Given the description of an element on the screen output the (x, y) to click on. 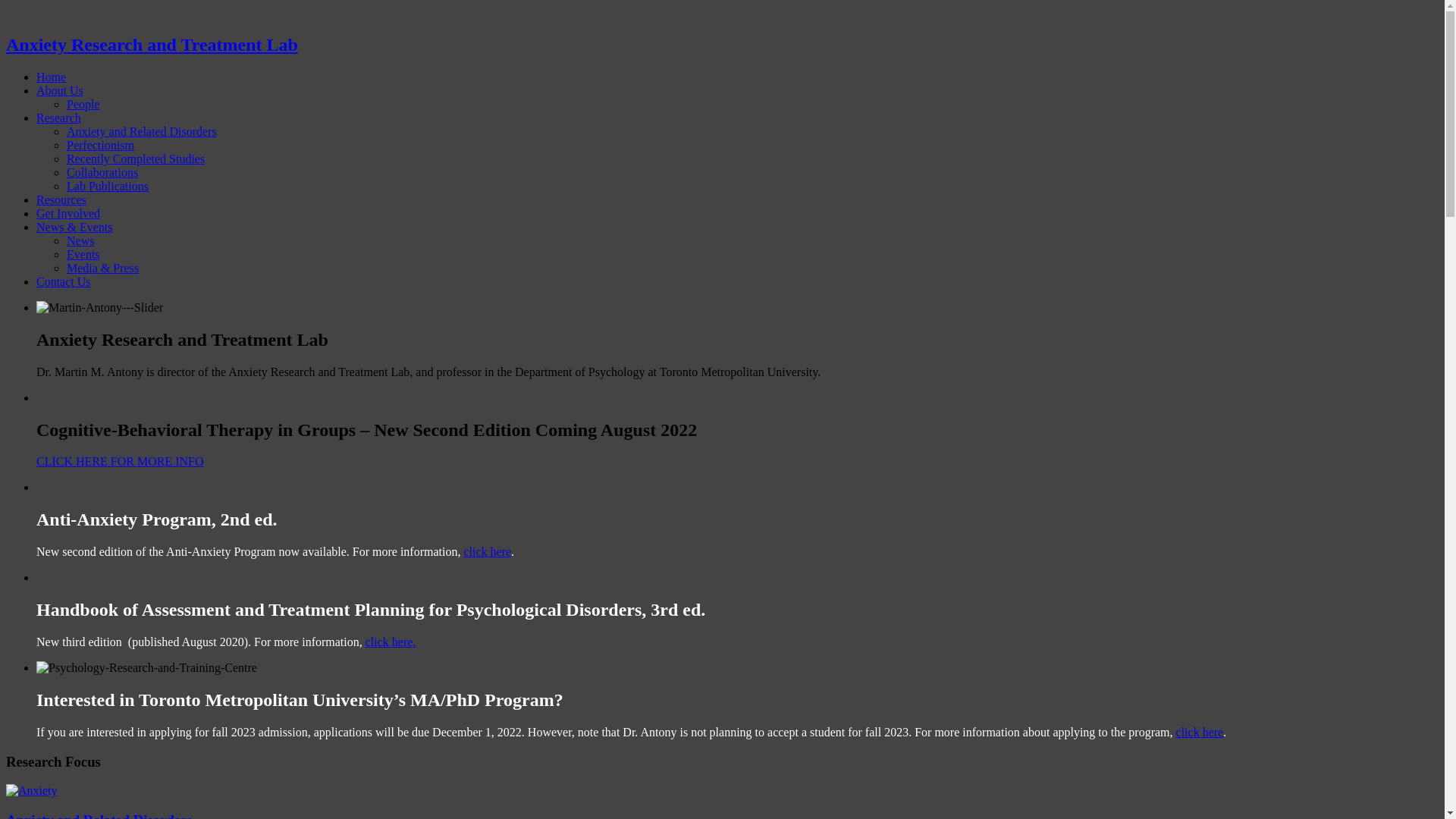
Home Element type: text (50, 76)
News & Events Element type: text (74, 226)
Anxiety and Related Disorders Element type: text (141, 131)
Resources Element type: text (61, 199)
CLICK HERE FOR MORE INFO Element type: text (119, 461)
Anxiety Research and Treatment Lab Element type: text (152, 44)
Lab Publications Element type: text (107, 185)
Anxiety and Related Disorders Element type: hover (31, 790)
People Element type: text (83, 103)
Events Element type: text (83, 253)
Get Involved Element type: text (68, 213)
News Element type: text (80, 240)
Media & Press Element type: text (102, 267)
click here. Element type: text (390, 641)
Research Element type: text (58, 117)
click here Element type: text (487, 551)
Contact Us Element type: text (63, 281)
About Us Element type: text (59, 90)
Recently Completed Studies Element type: text (135, 158)
Perfectionism Element type: text (100, 144)
Collaborations Element type: text (102, 172)
click here Element type: text (1199, 731)
